Given the description of an element on the screen output the (x, y) to click on. 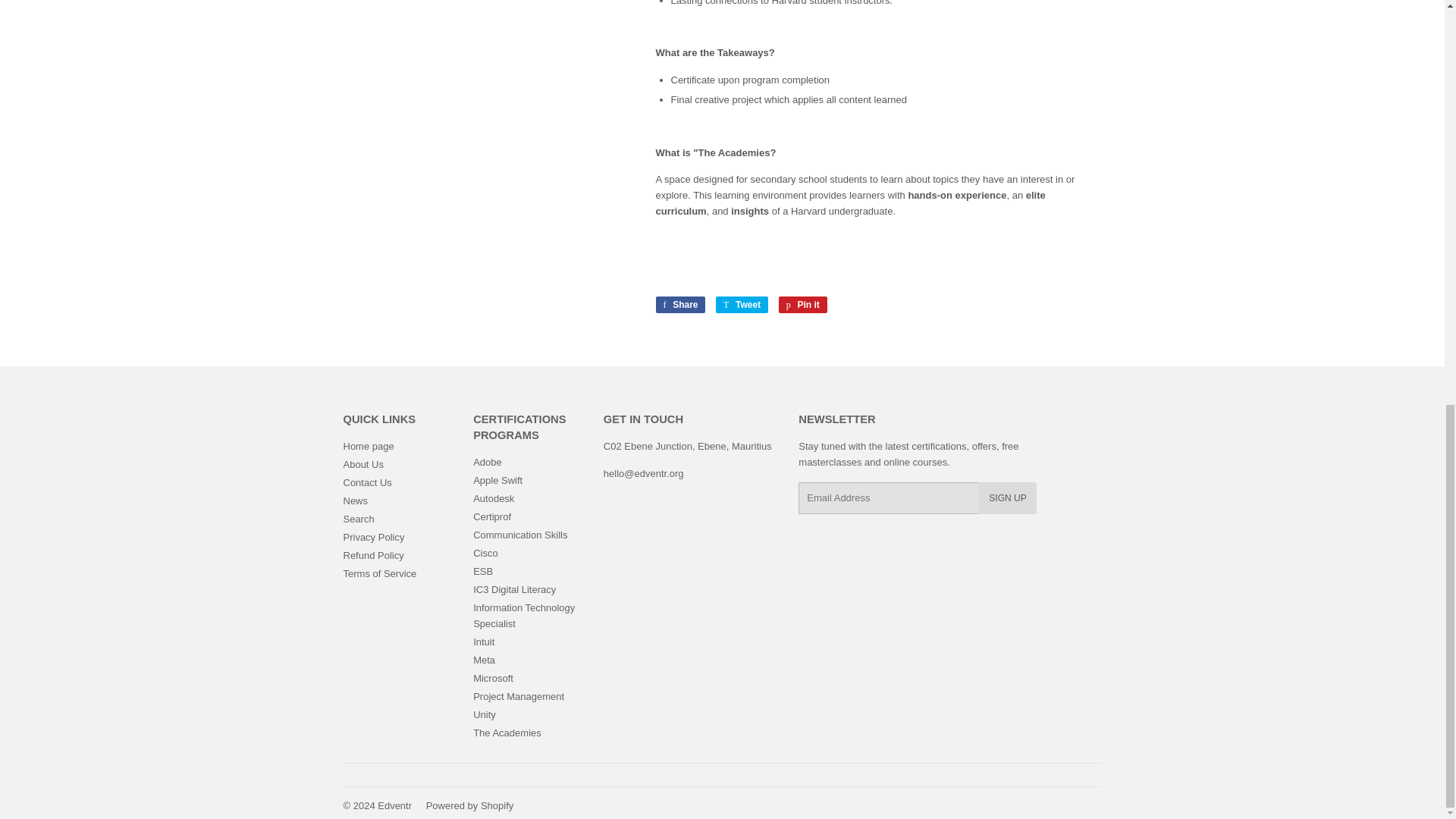
Share on Facebook (679, 304)
Pin on Pinterest (802, 304)
Tweet on Twitter (742, 304)
